Given the description of an element on the screen output the (x, y) to click on. 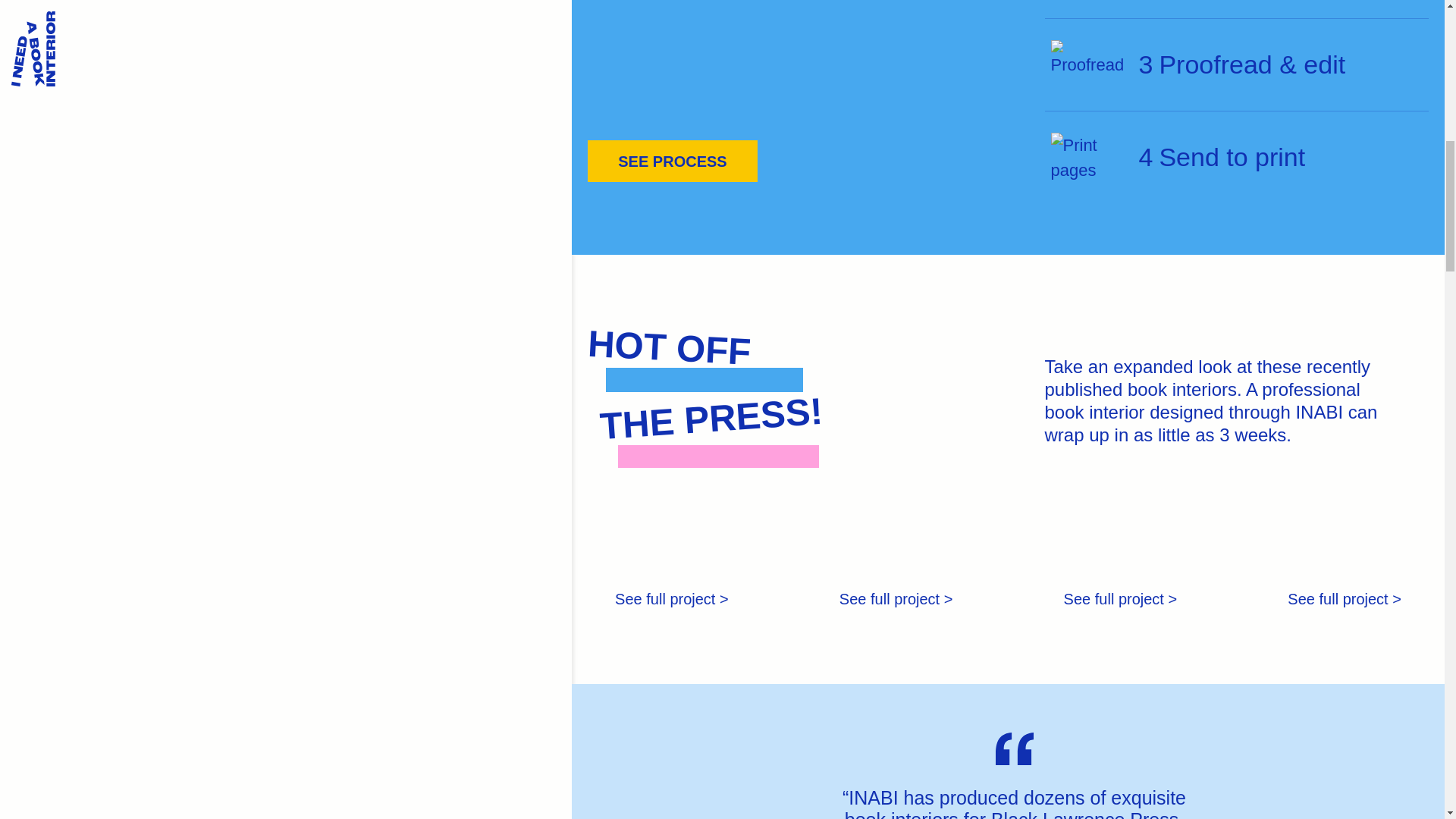
SEE PROCESS (672, 160)
